Given the description of an element on the screen output the (x, y) to click on. 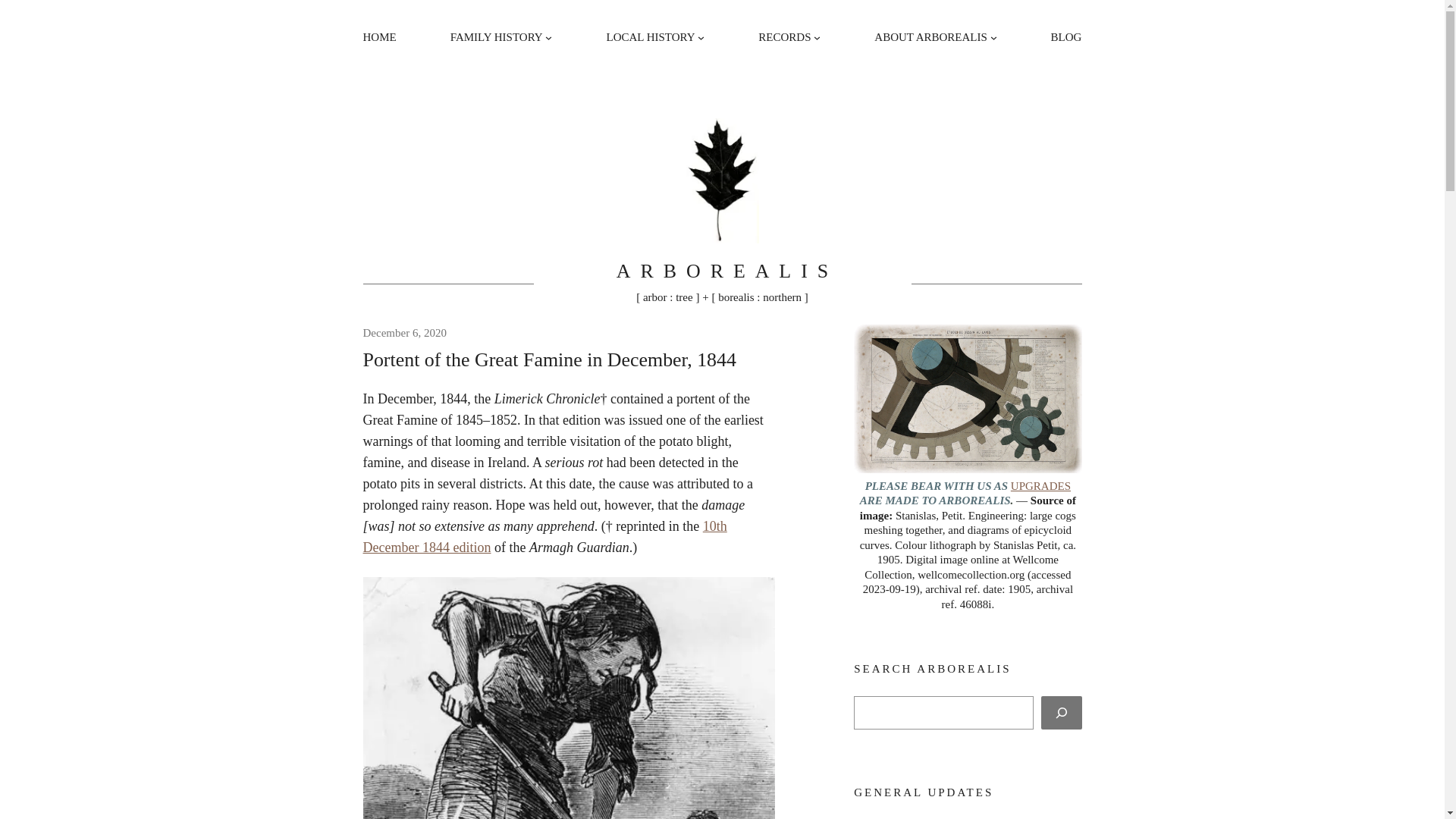
FAMILY HISTORY Element type: text (496, 37)
BLOG Element type: text (1066, 37)
RECORDS Element type: text (784, 37)
ARBOREALIS Element type: text (726, 271)
UPGRADES Element type: text (1040, 486)
ABOUT ARBOREALIS Element type: text (930, 37)
10th December 1844 edition Element type: text (544, 536)
HOME Element type: text (378, 37)
LOCAL HISTORY Element type: text (649, 37)
